Given the description of an element on the screen output the (x, y) to click on. 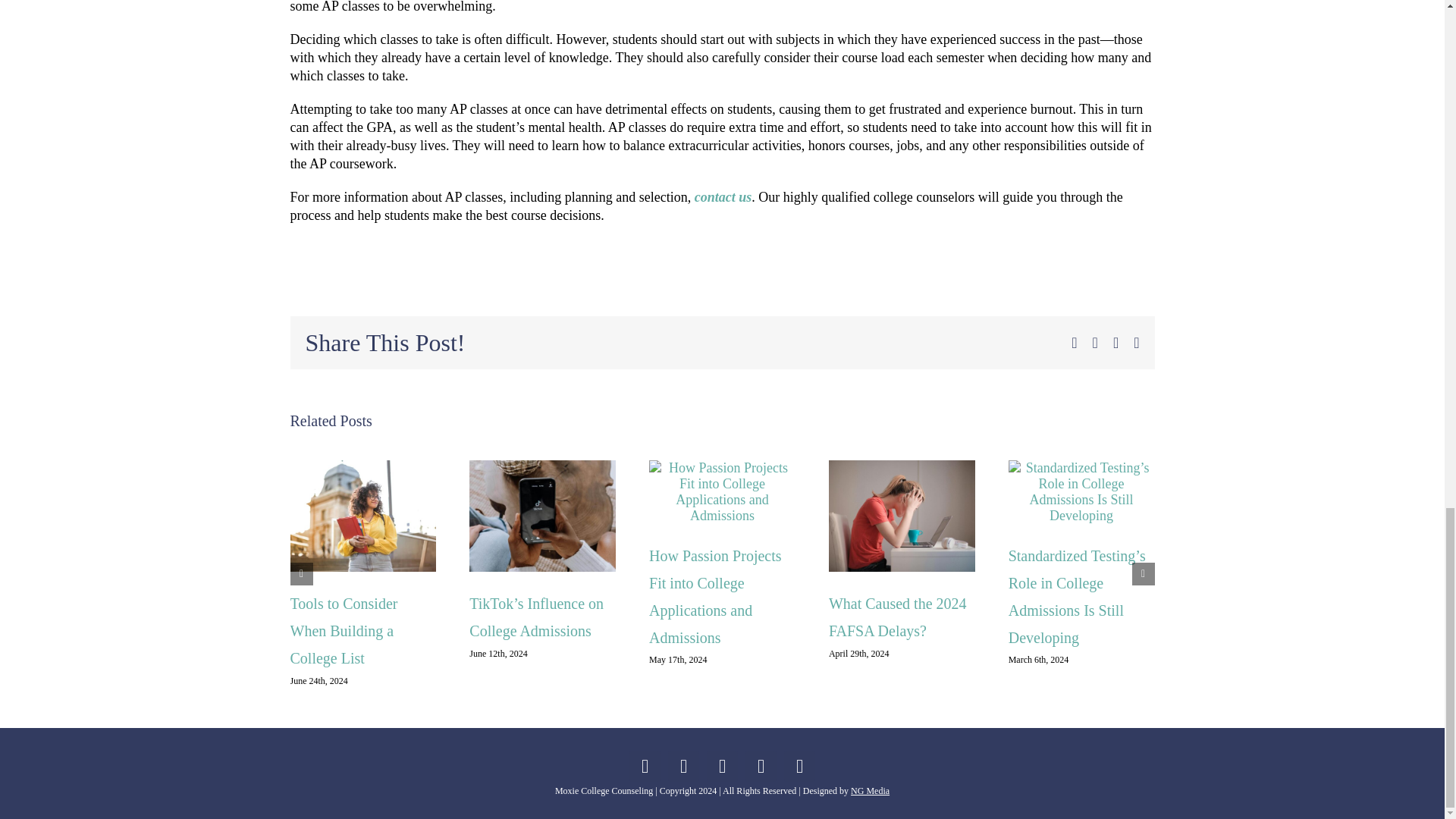
Facebook (644, 766)
Tools to Consider When Building a College List (343, 630)
What Caused the 2024 FAFSA Delays? (897, 617)
